Given the description of an element on the screen output the (x, y) to click on. 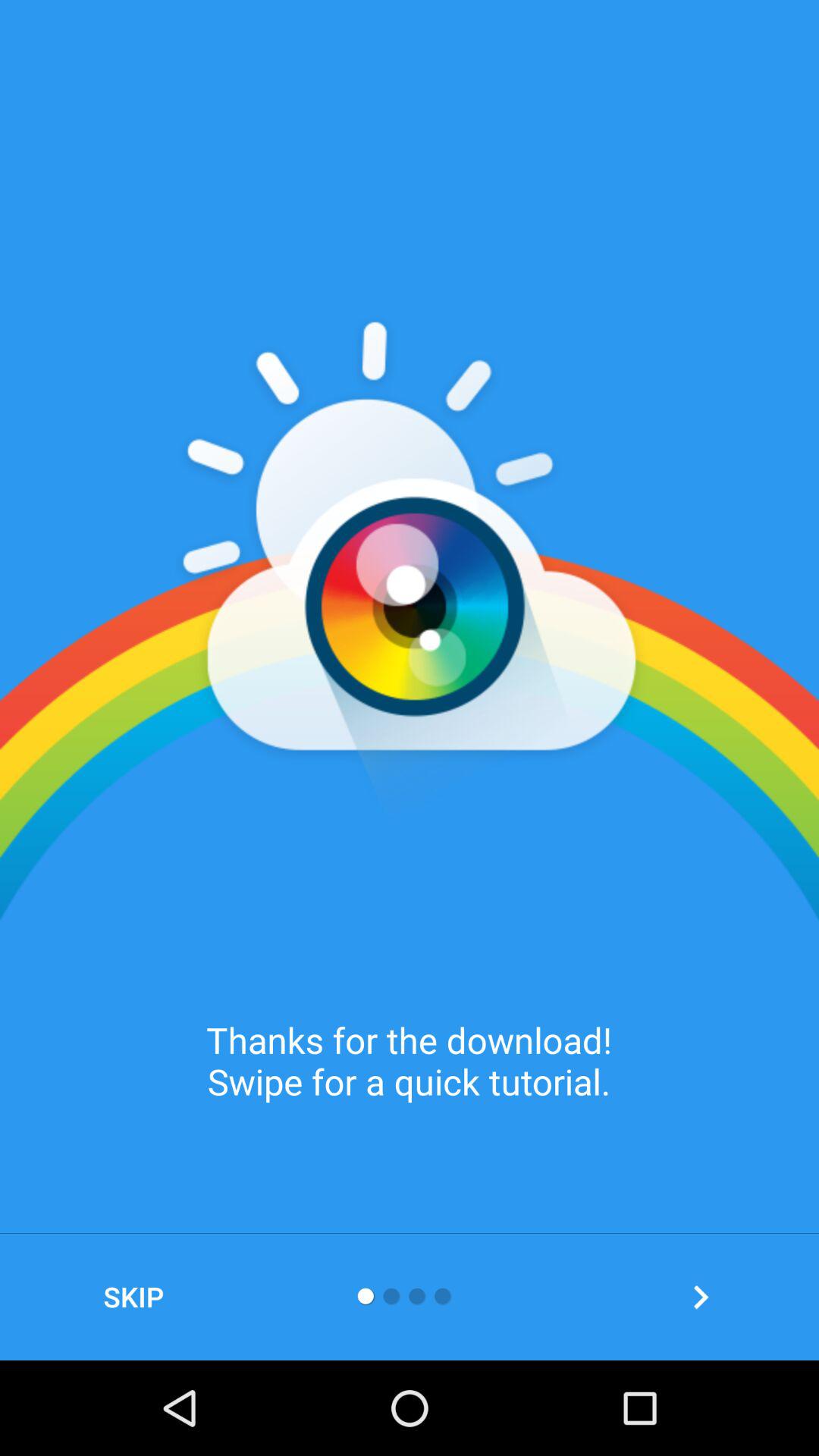
go to next page (700, 1296)
